Given the description of an element on the screen output the (x, y) to click on. 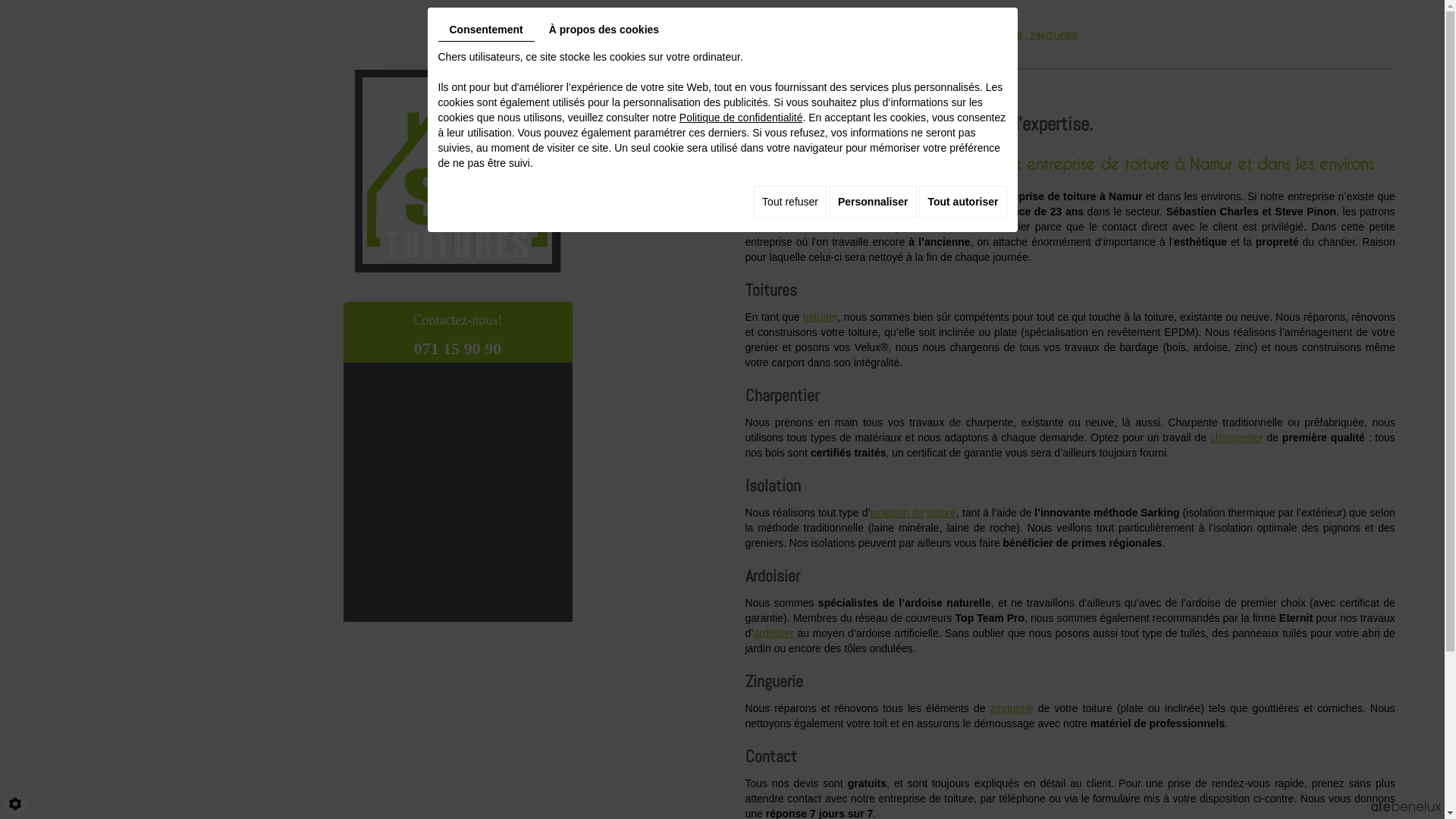
CHARPENTIER Element type: text (878, 36)
ZINGUERIE Element type: text (1052, 36)
Tout refuser Element type: text (789, 201)
ISOLATION Element type: text (941, 36)
isolation de toiture Element type: text (913, 512)
ACCUEIL Element type: text (767, 36)
ardoisier Element type: text (773, 633)
zinguerie Element type: text (1011, 708)
CSP TOITURES SPRL Element type: hover (457, 170)
Consentement Element type: text (486, 29)
Personnaliser Element type: text (872, 201)
toiturier Element type: text (820, 316)
Tout autoriser Element type: text (962, 201)
TOITURES Element type: text (818, 36)
charpentier Element type: text (1236, 437)
ARDOISIER Element type: text (997, 36)
